Given the description of an element on the screen output the (x, y) to click on. 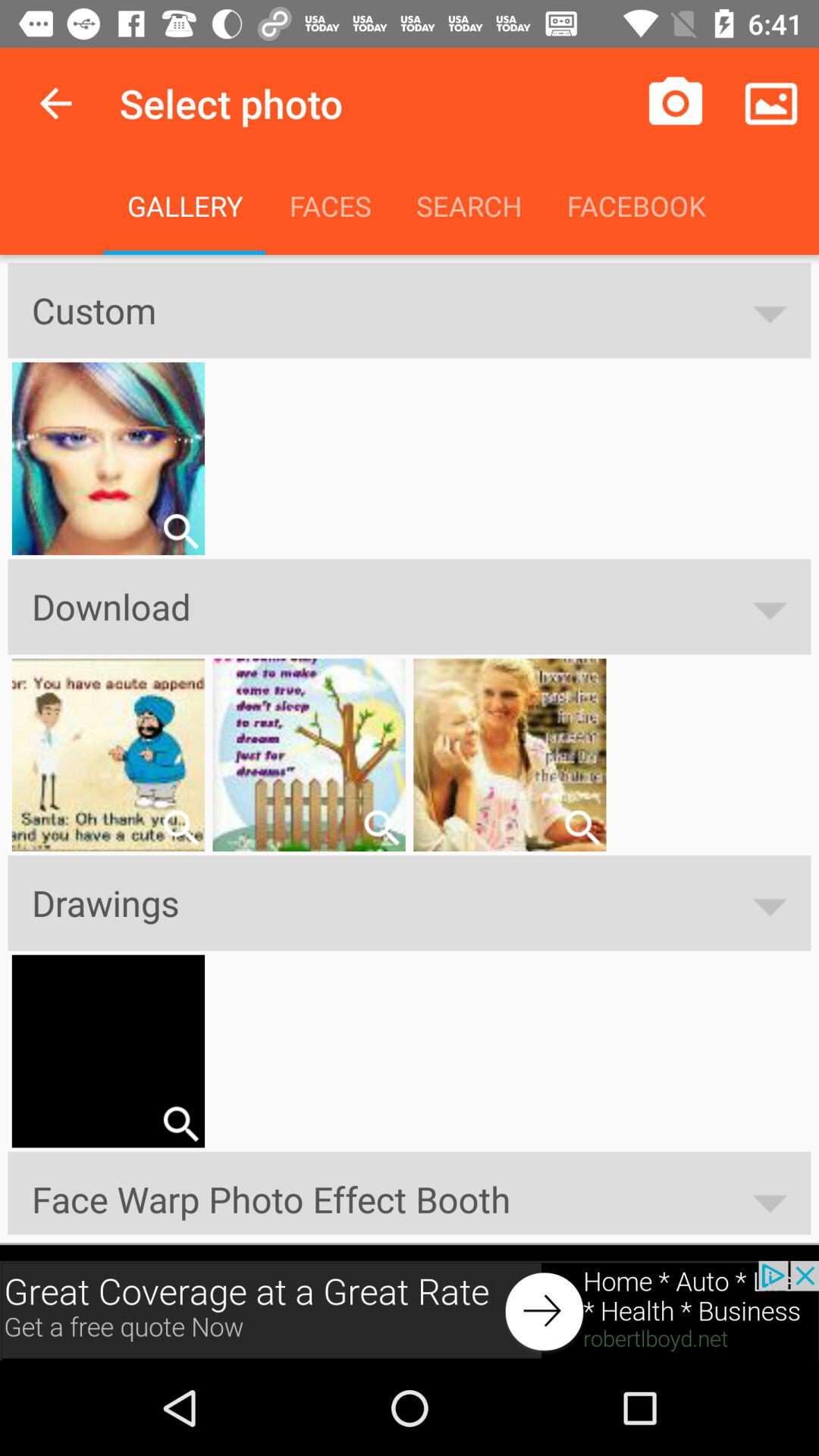
go back (55, 103)
